Given the description of an element on the screen output the (x, y) to click on. 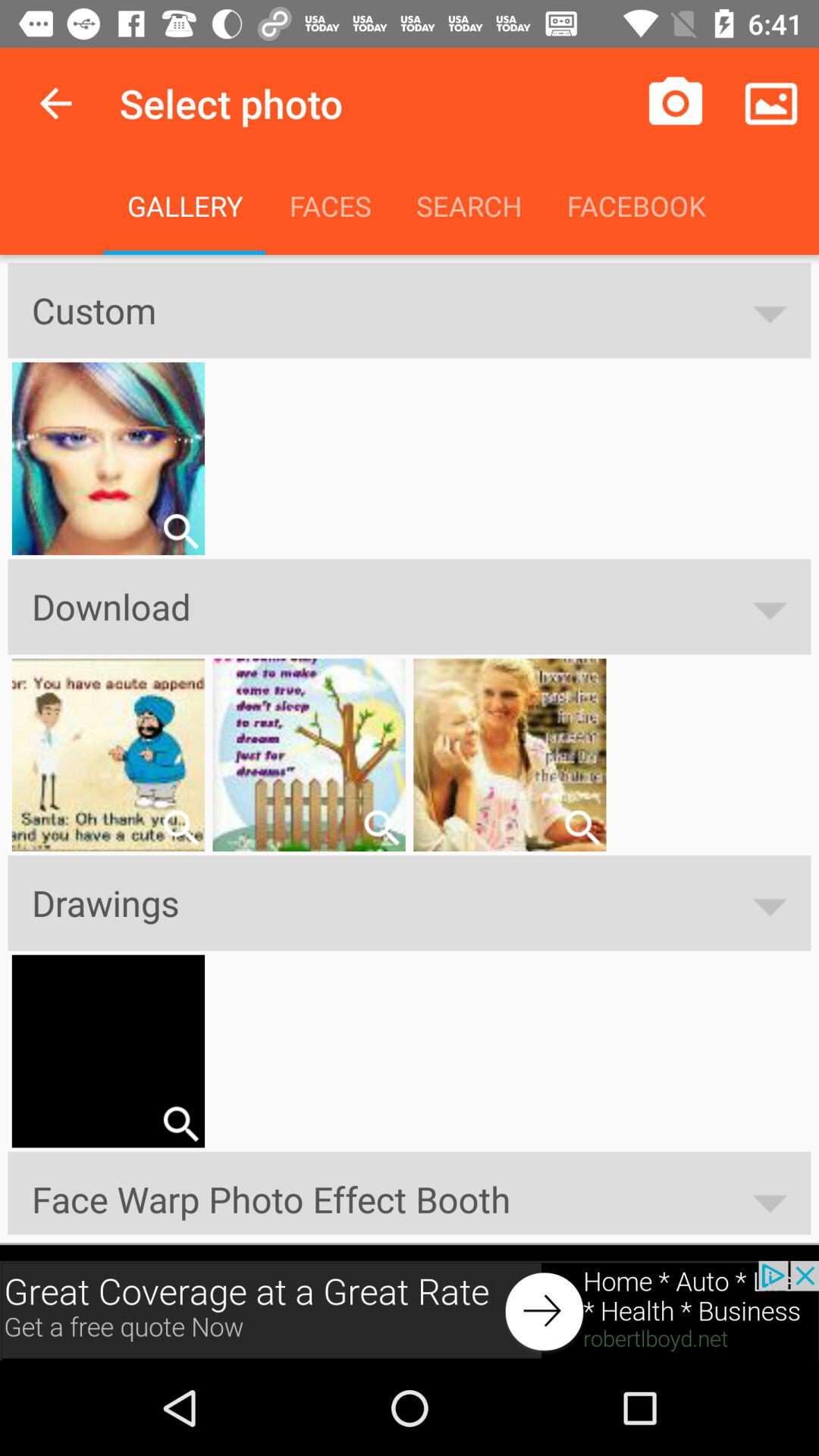
go back (55, 103)
